Given the description of an element on the screen output the (x, y) to click on. 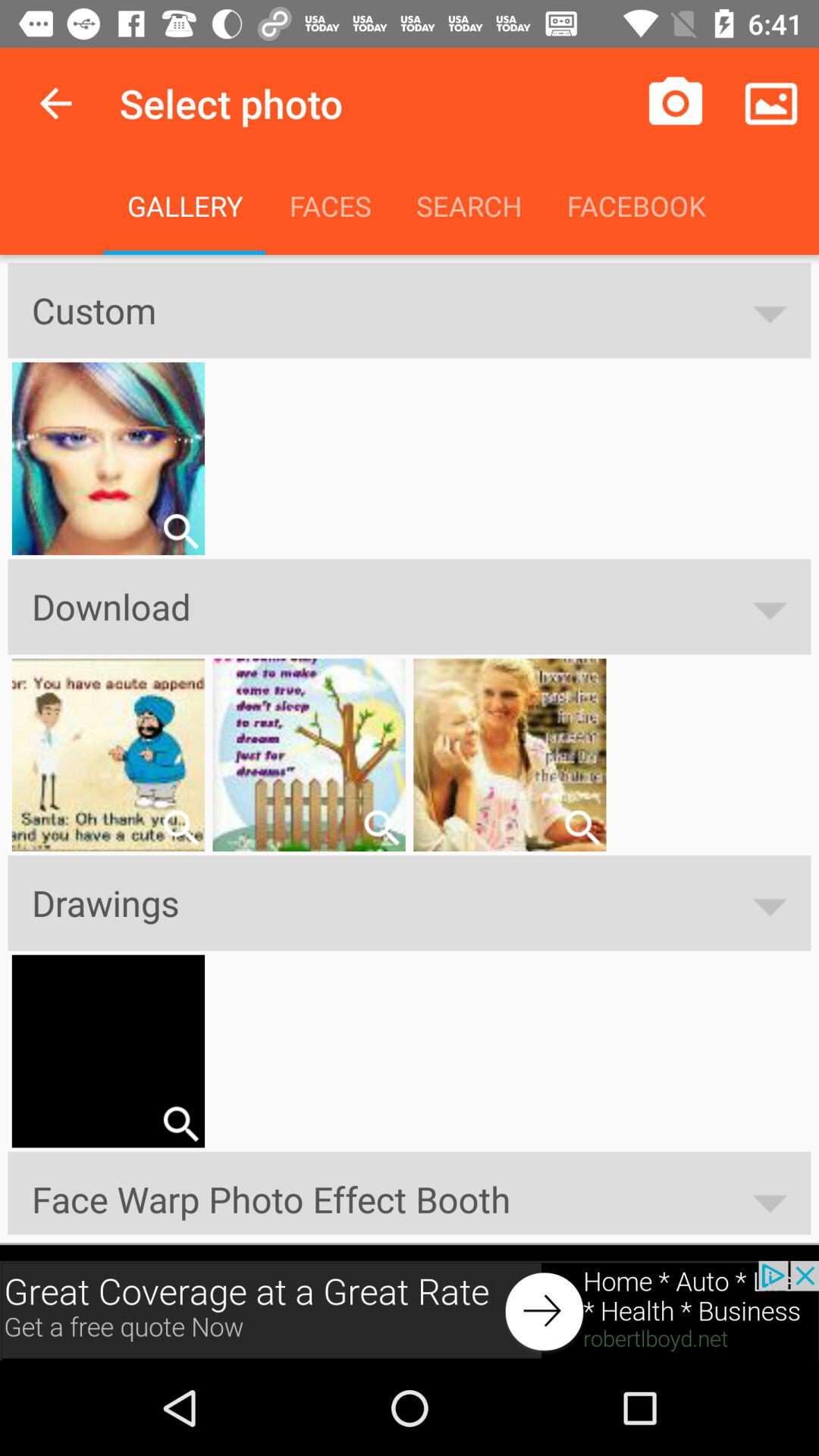
go back (55, 103)
